Given the description of an element on the screen output the (x, y) to click on. 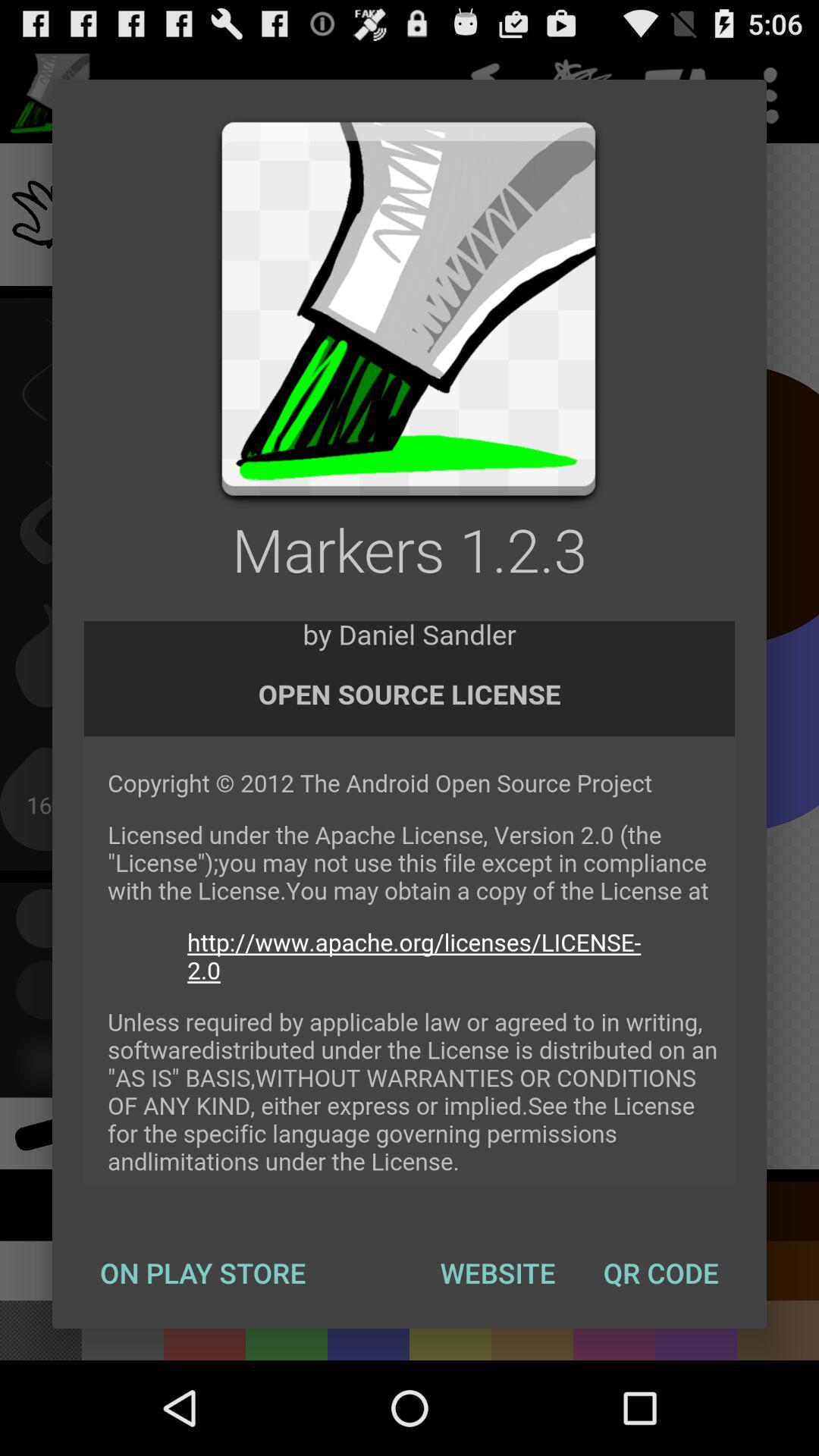
link to website (409, 903)
